Given the description of an element on the screen output the (x, y) to click on. 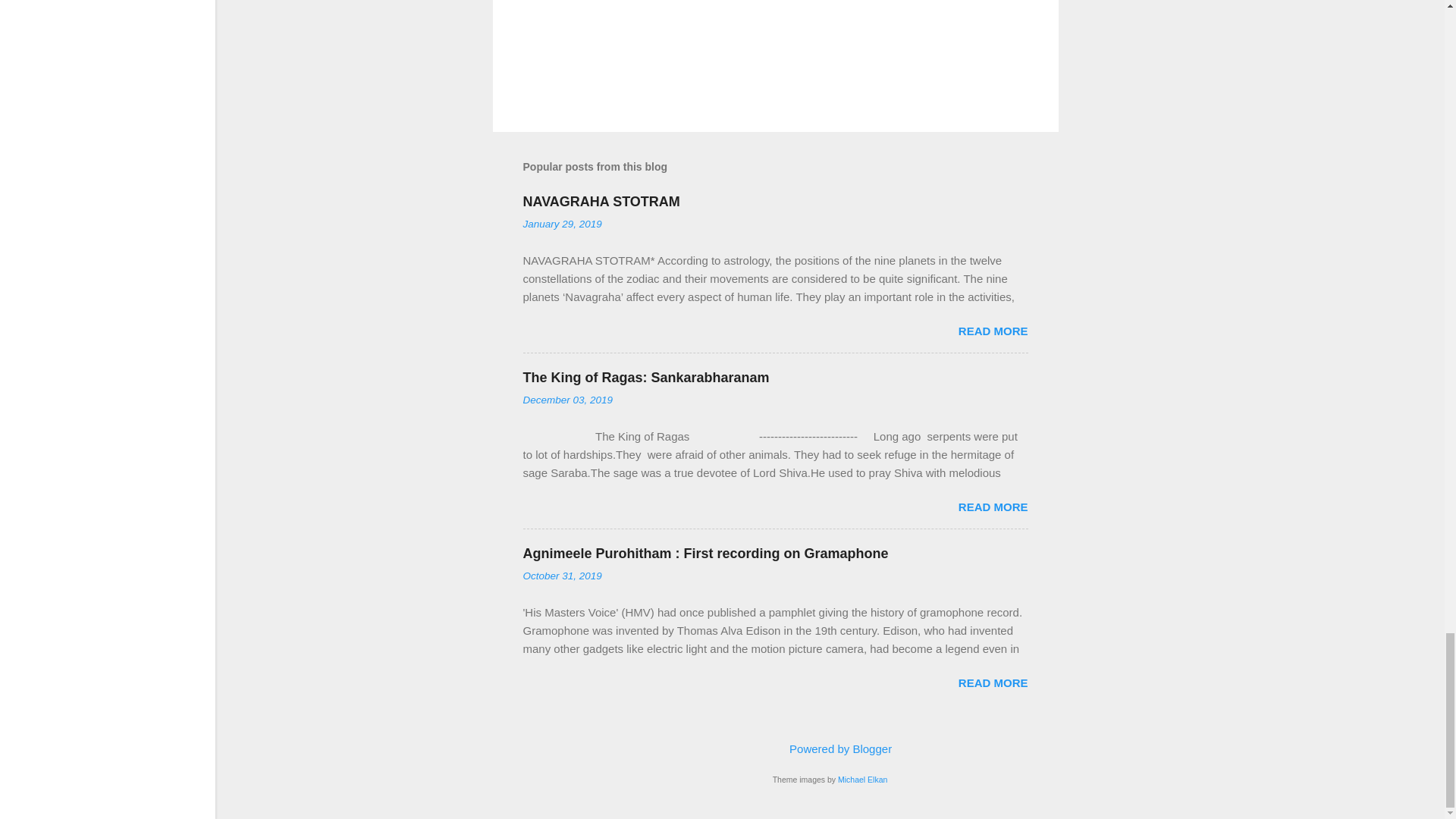
October 31, 2019 (562, 575)
The King of Ragas: Sankarabharanam (646, 377)
Michael Elkan (862, 778)
January 29, 2019 (562, 224)
READ MORE (992, 682)
Powered by Blogger (829, 748)
December 03, 2019 (567, 399)
READ MORE (992, 330)
READ MORE (992, 506)
NAVAGRAHA STOTRAM (600, 201)
